Given the description of an element on the screen output the (x, y) to click on. 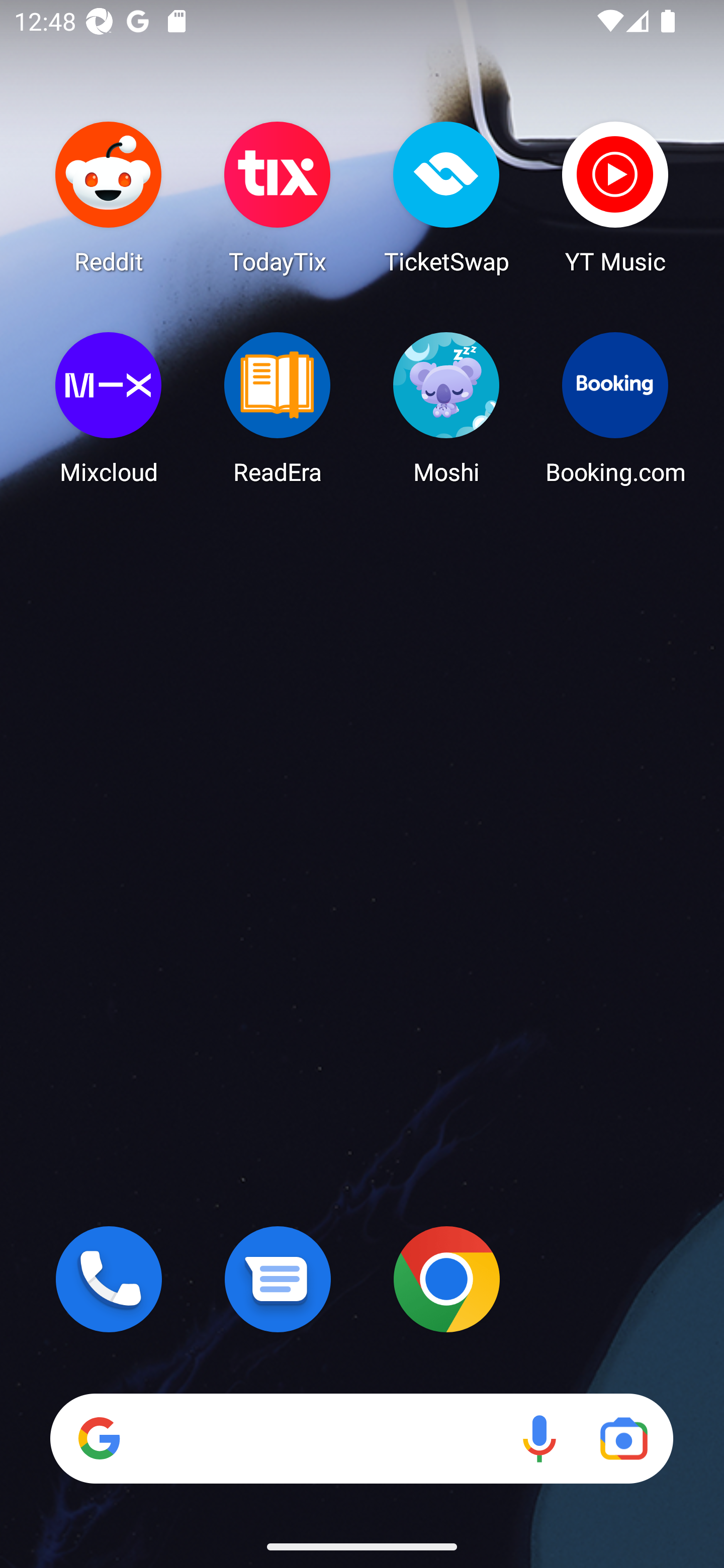
Reddit (108, 196)
TodayTix (277, 196)
TicketSwap (445, 196)
YT Music (615, 196)
Mixcloud (108, 407)
ReadEra (277, 407)
Moshi (445, 407)
Booking.com (615, 407)
Phone (108, 1279)
Messages (277, 1279)
Chrome (446, 1279)
Search Voice search Google Lens (361, 1438)
Voice search (539, 1438)
Google Lens (623, 1438)
